Given the description of an element on the screen output the (x, y) to click on. 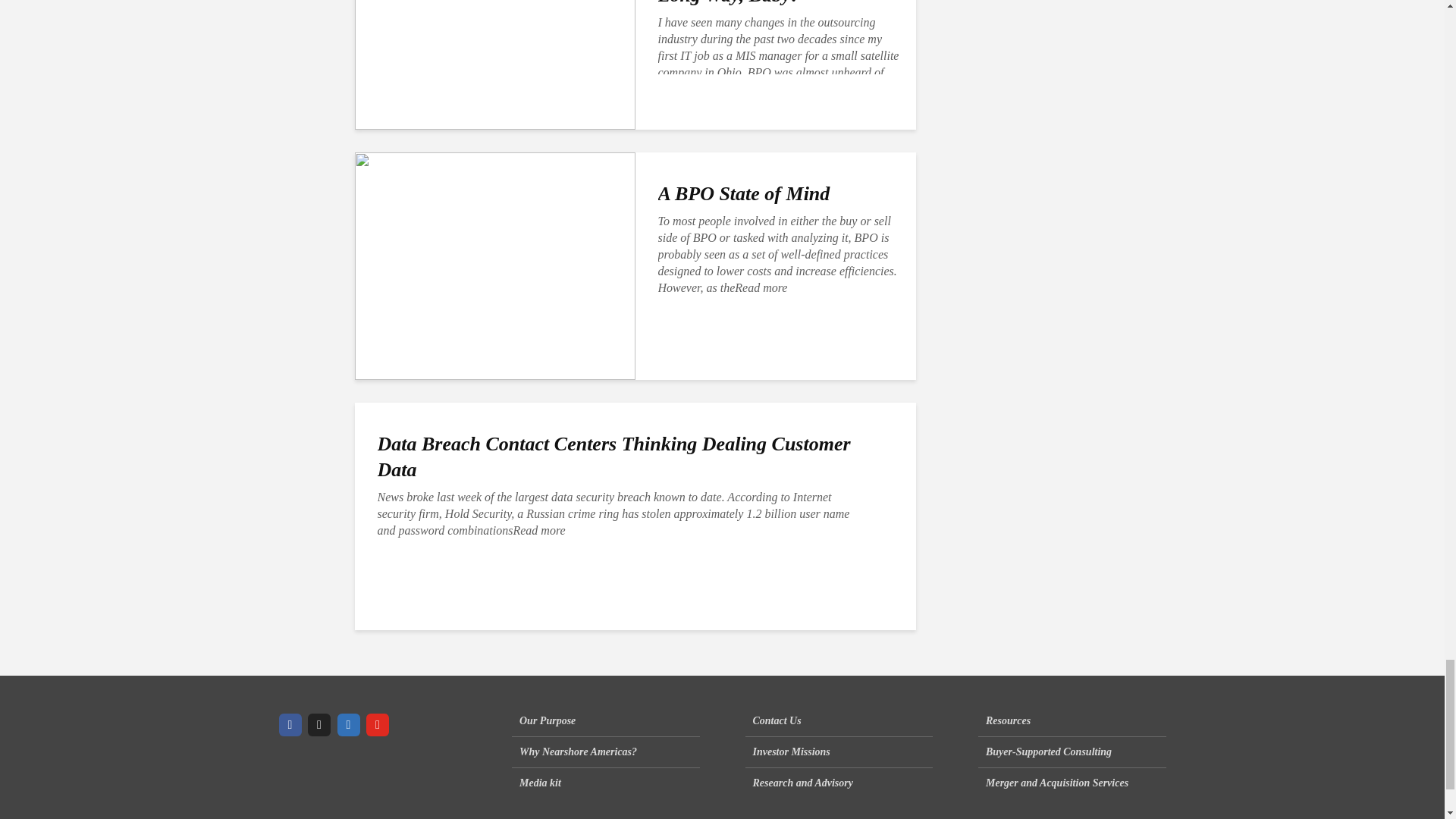
YouTube (377, 724)
Linkedin (347, 724)
A BPO State of Mind (494, 264)
Facebook (290, 724)
